Given the description of an element on the screen output the (x, y) to click on. 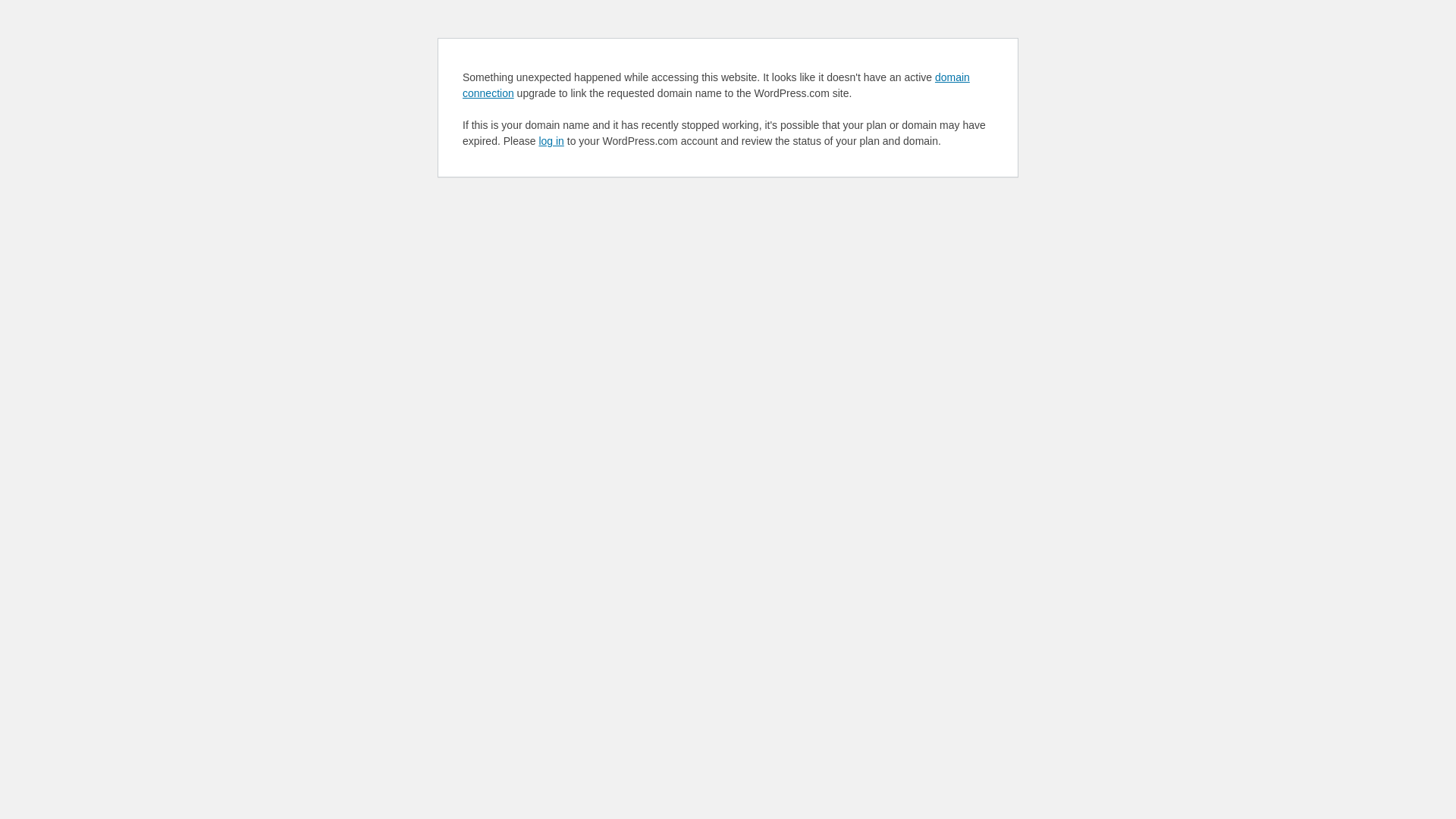
log in Element type: text (550, 140)
domain connection Element type: text (715, 85)
